Given the description of an element on the screen output the (x, y) to click on. 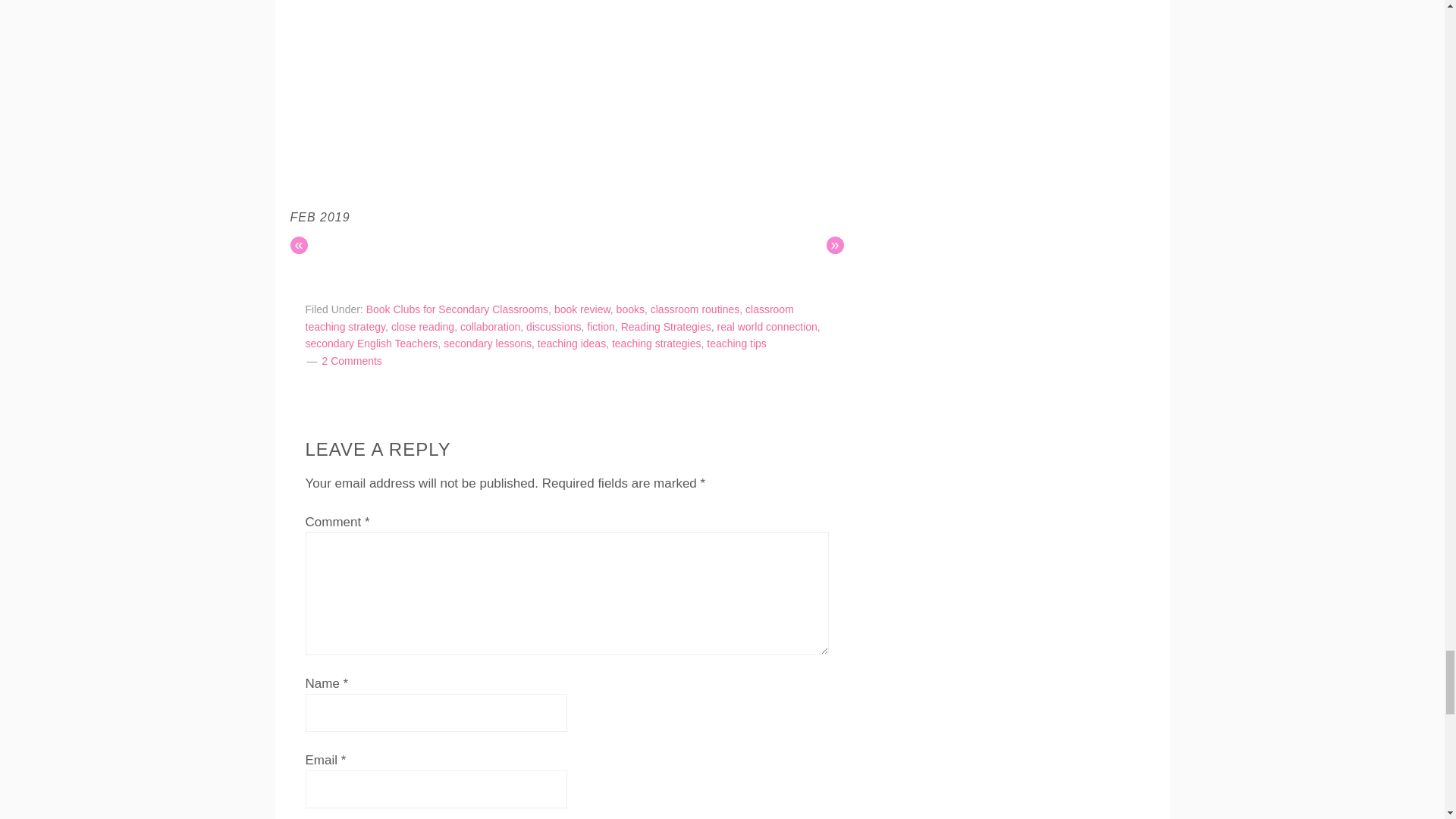
Book Clubs for Secondary Classrooms (457, 309)
book review (582, 309)
